Given the description of an element on the screen output the (x, y) to click on. 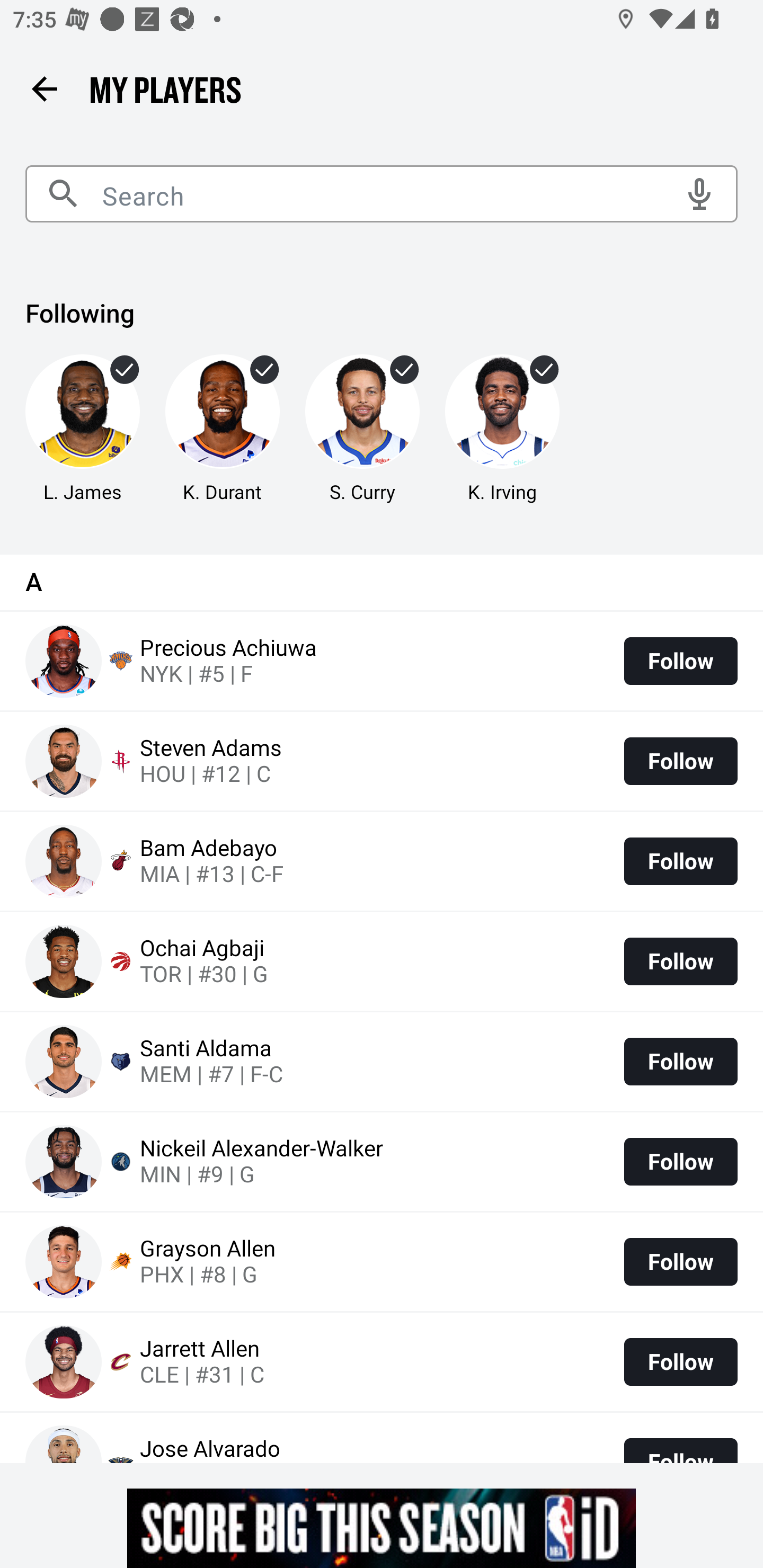
Back button (44, 88)
Search (381, 193)
Follow (680, 660)
Follow (680, 760)
Follow (680, 861)
Follow (680, 961)
Follow (680, 1061)
Follow (680, 1161)
Follow (680, 1261)
Follow (680, 1361)
g5nqqygr7owph (381, 1528)
